Given the description of an element on the screen output the (x, y) to click on. 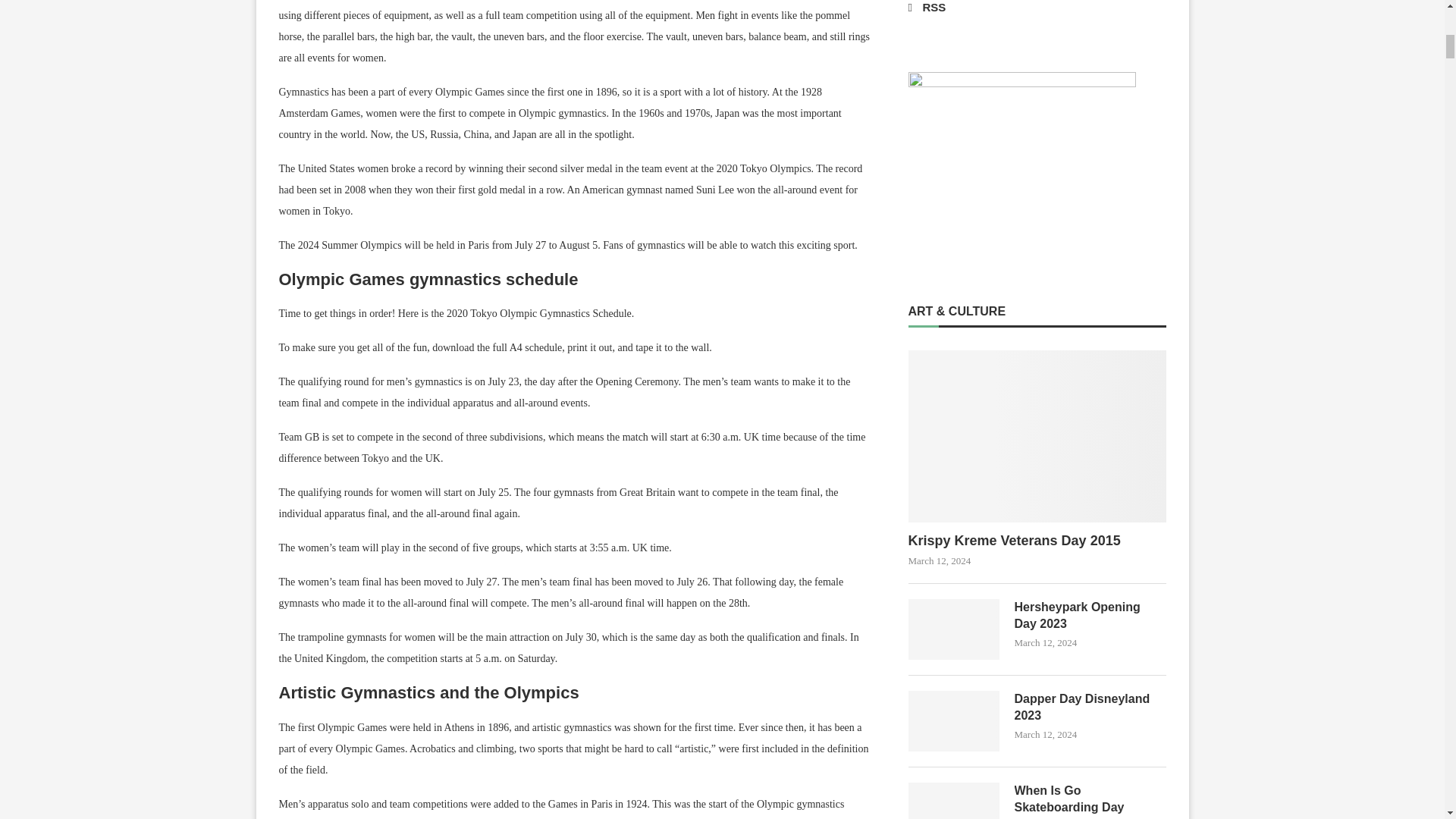
When Is Go Skateboarding Day (1090, 799)
Krispy Kreme Veterans Day 2015 (1037, 540)
Dapper Day Disneyland 2023 (1090, 707)
Hersheypark Opening Day 2023 (1090, 615)
Dapper Day Disneyland 2023 (953, 721)
When Is Go Skateboarding Day (953, 800)
Krispy Kreme Veterans Day 2015 (1037, 436)
Hersheypark Opening Day 2023 (953, 629)
